Given the description of an element on the screen output the (x, y) to click on. 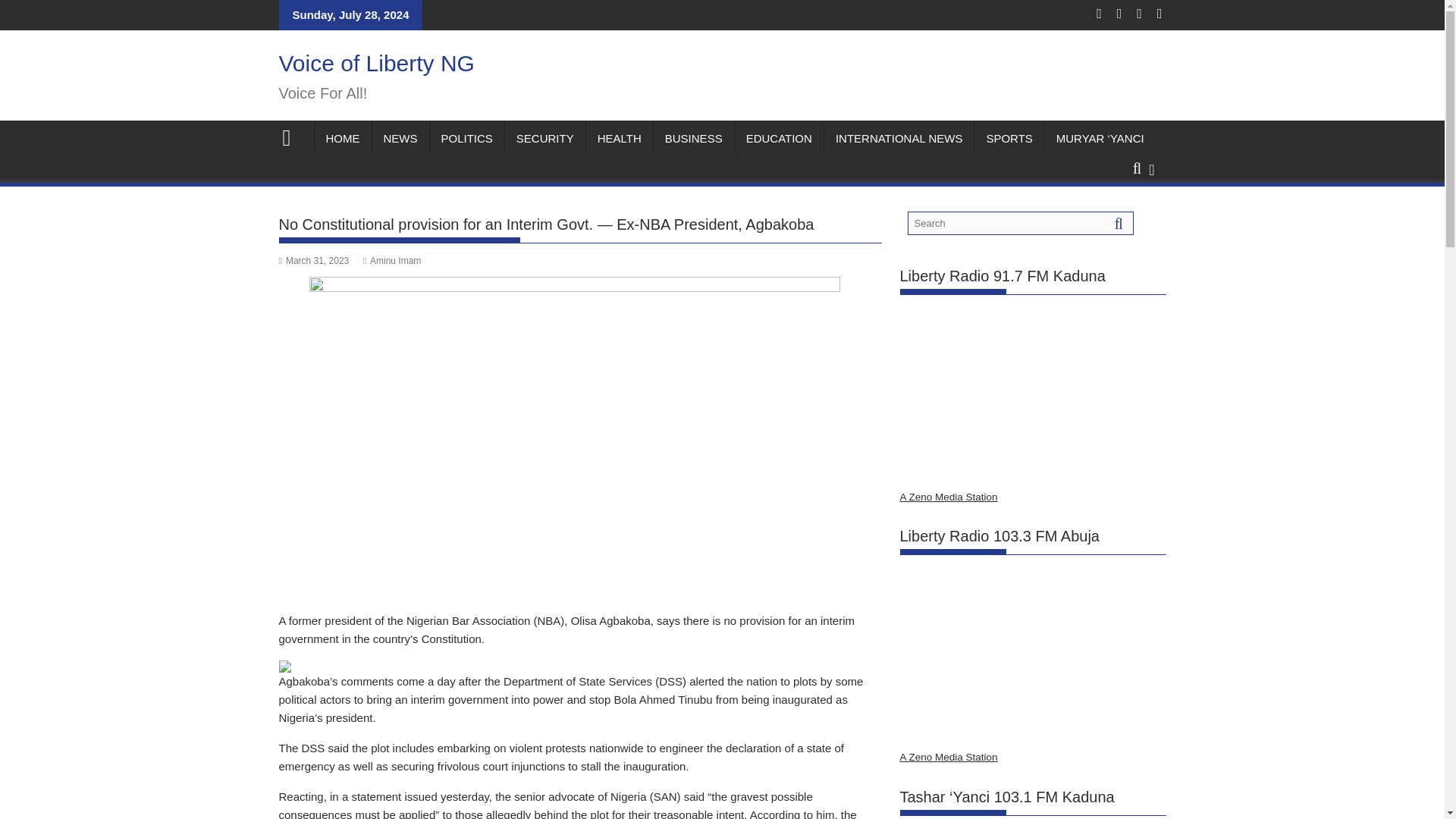
March 31, 2023 (314, 260)
SPORTS (1008, 138)
Voice of Liberty NG (293, 136)
POLITICS (466, 138)
HOME (342, 138)
Voice of Liberty NG (376, 63)
HEALTH (619, 138)
EDUCATION (779, 138)
Aminu Imam (392, 260)
INTERNATIONAL NEWS (899, 138)
SECURITY (545, 138)
NEWS (399, 138)
BUSINESS (693, 138)
